Given the description of an element on the screen output the (x, y) to click on. 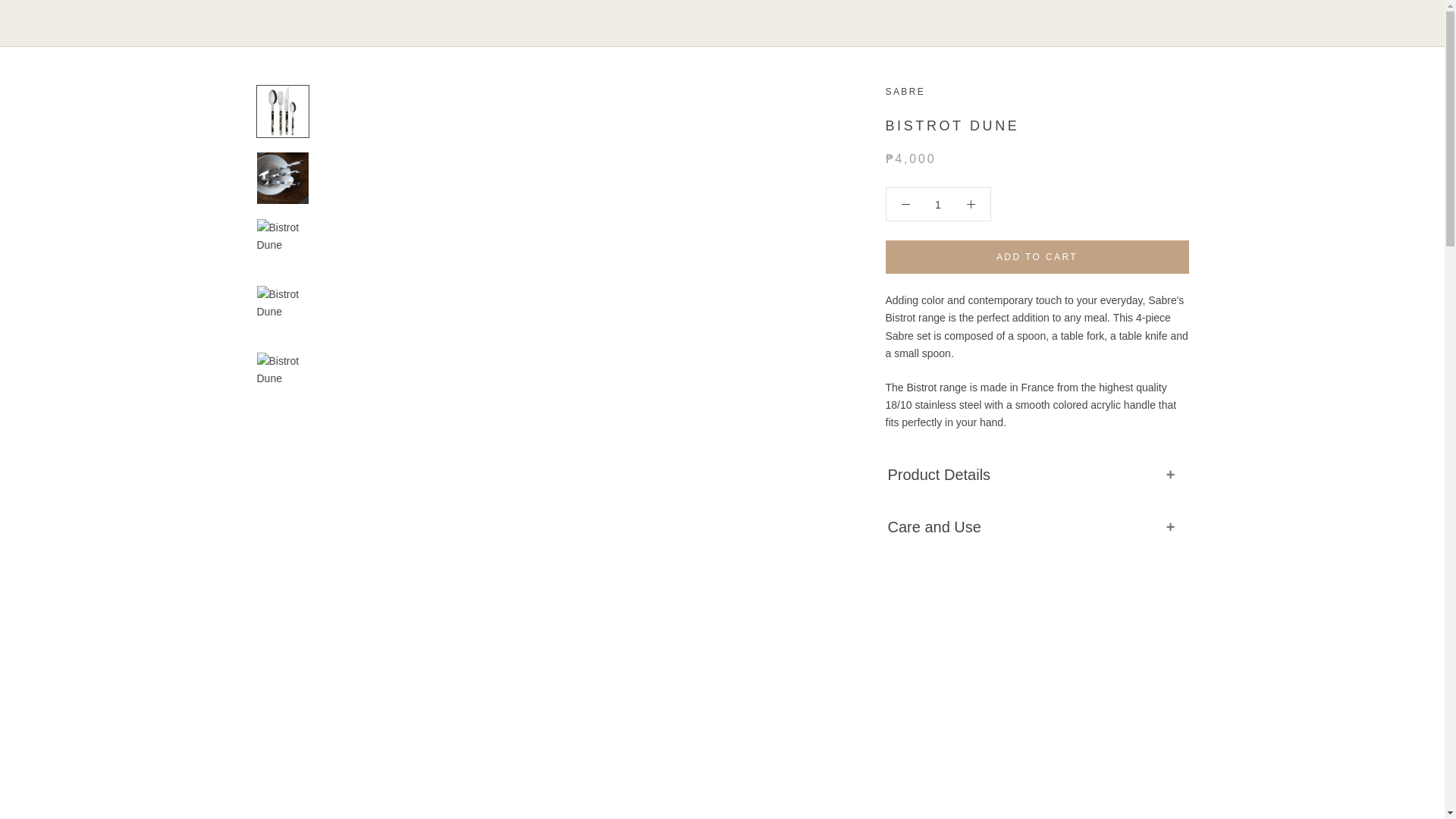
1 (938, 204)
